Given the description of an element on the screen output the (x, y) to click on. 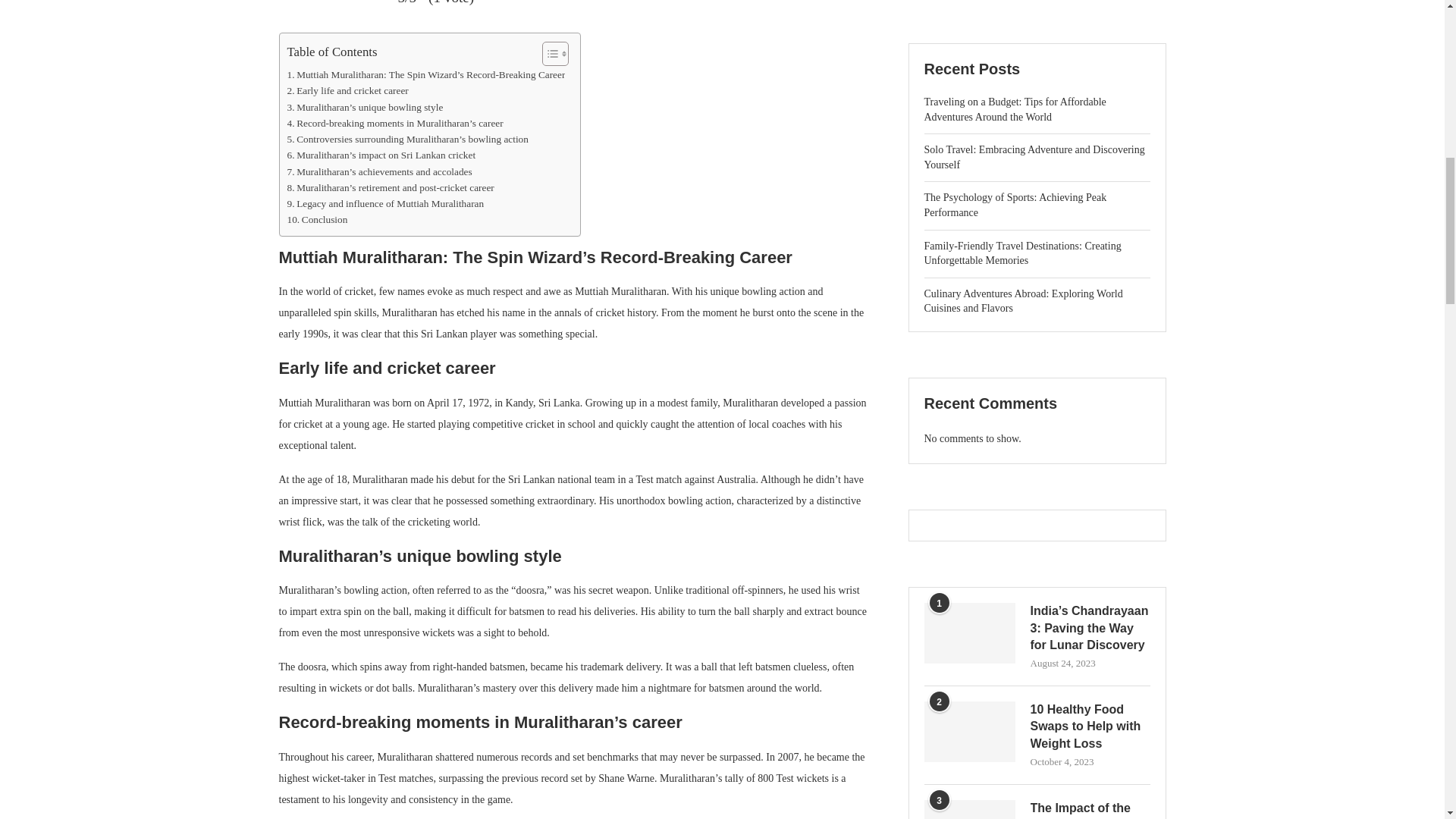
Early life and cricket career (346, 90)
Legacy and influence of Muttiah Muralitharan (384, 203)
Conclusion (316, 219)
Early life and cricket career (346, 90)
